Given the description of an element on the screen output the (x, y) to click on. 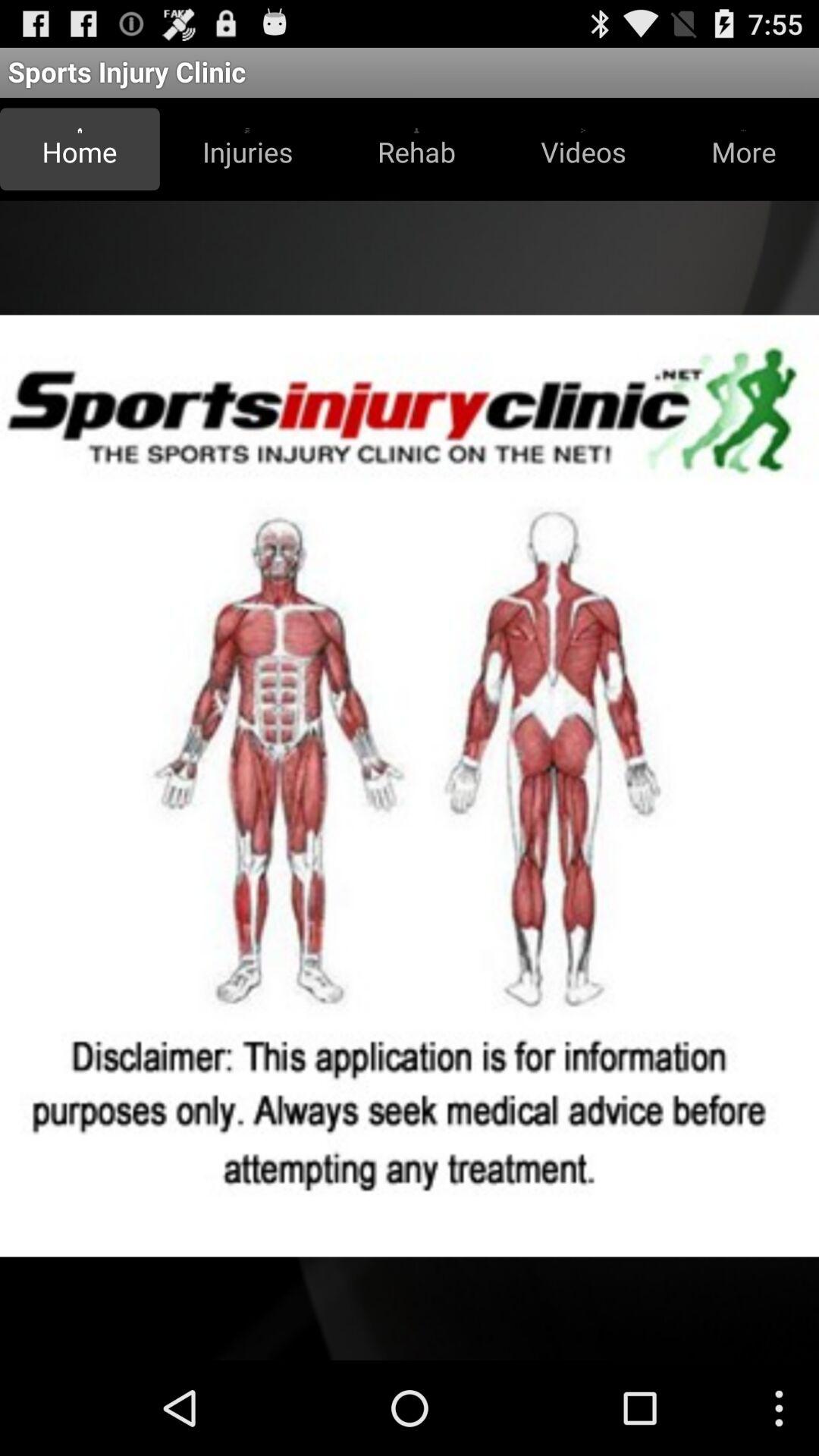
turn on the button next to the rehab icon (246, 149)
